Given the description of an element on the screen output the (x, y) to click on. 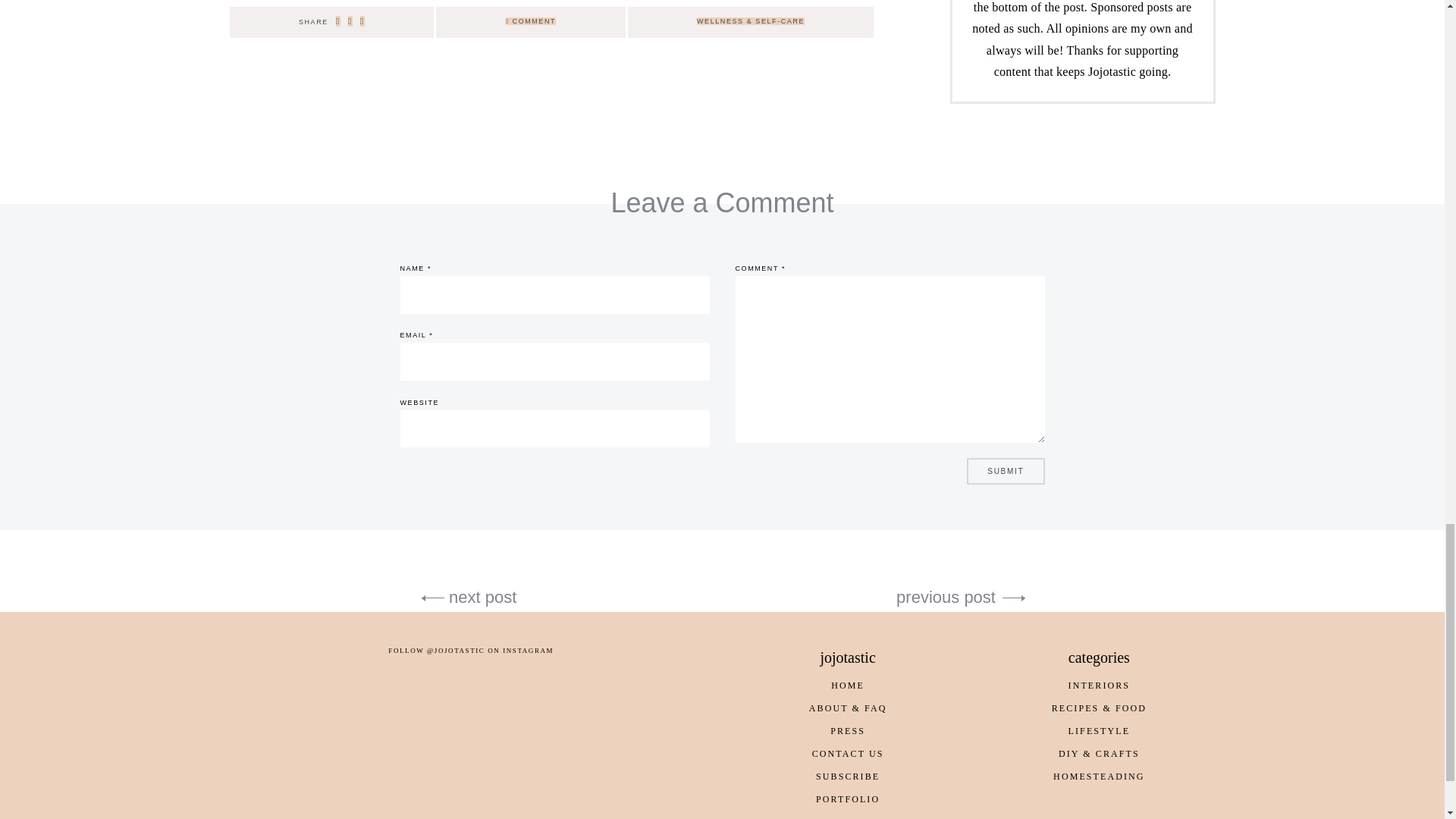
Submit (1004, 470)
